Given the description of an element on the screen output the (x, y) to click on. 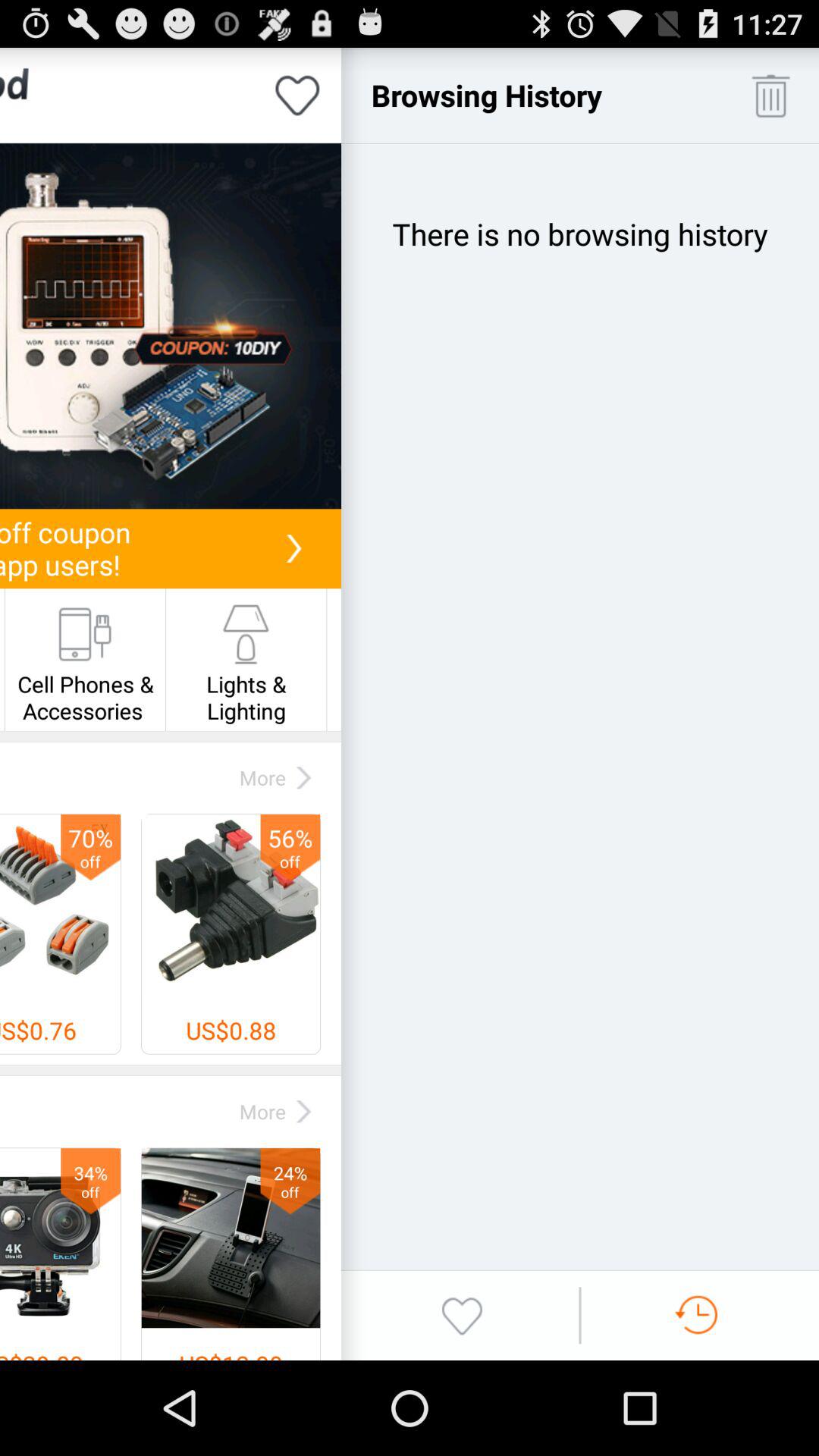
select first offer (170, 326)
